Given the description of an element on the screen output the (x, y) to click on. 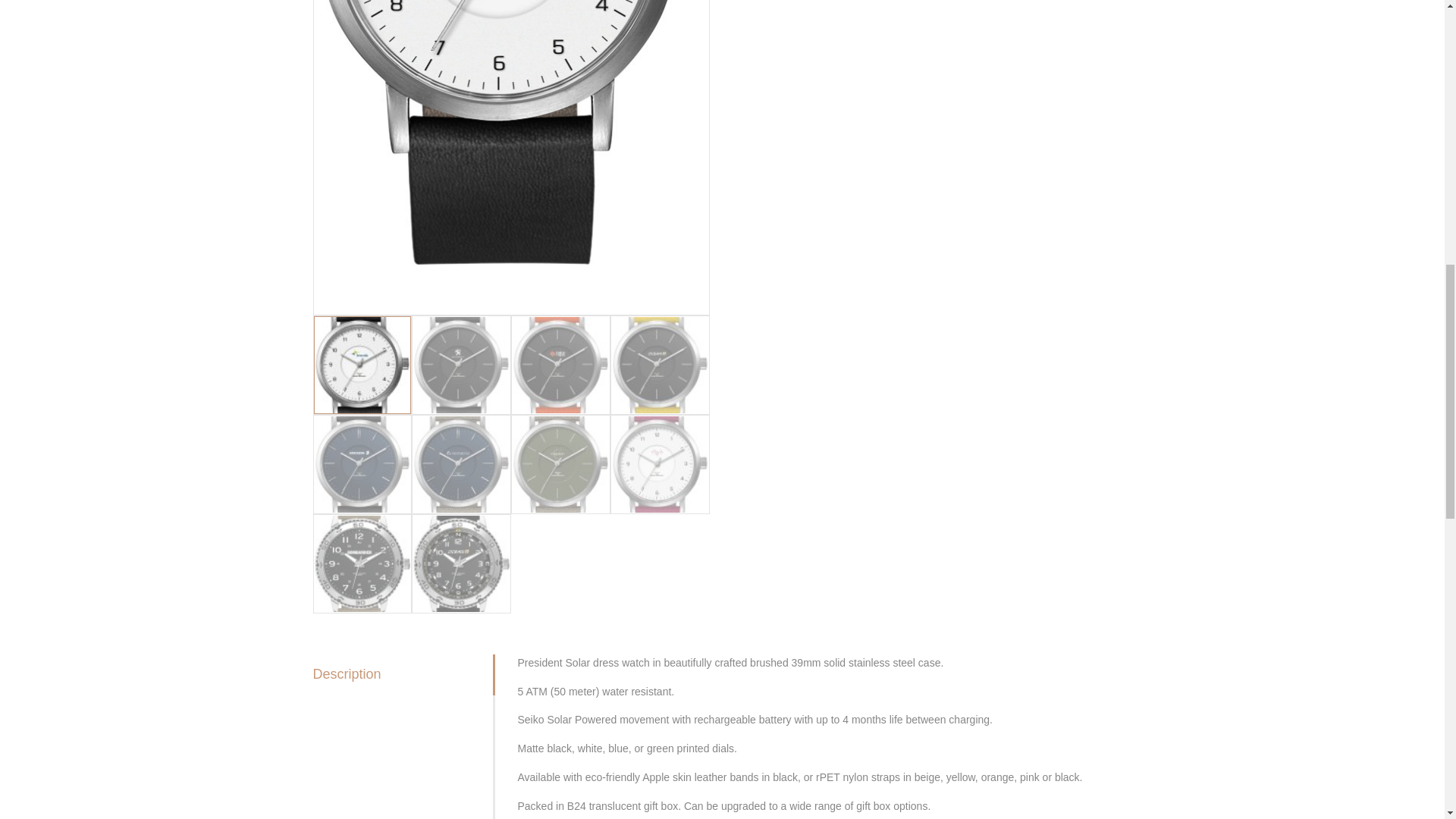
S883S1-A-SOLAR (907, 157)
S883S4-A-SOLAR (512, 157)
